Given the description of an element on the screen output the (x, y) to click on. 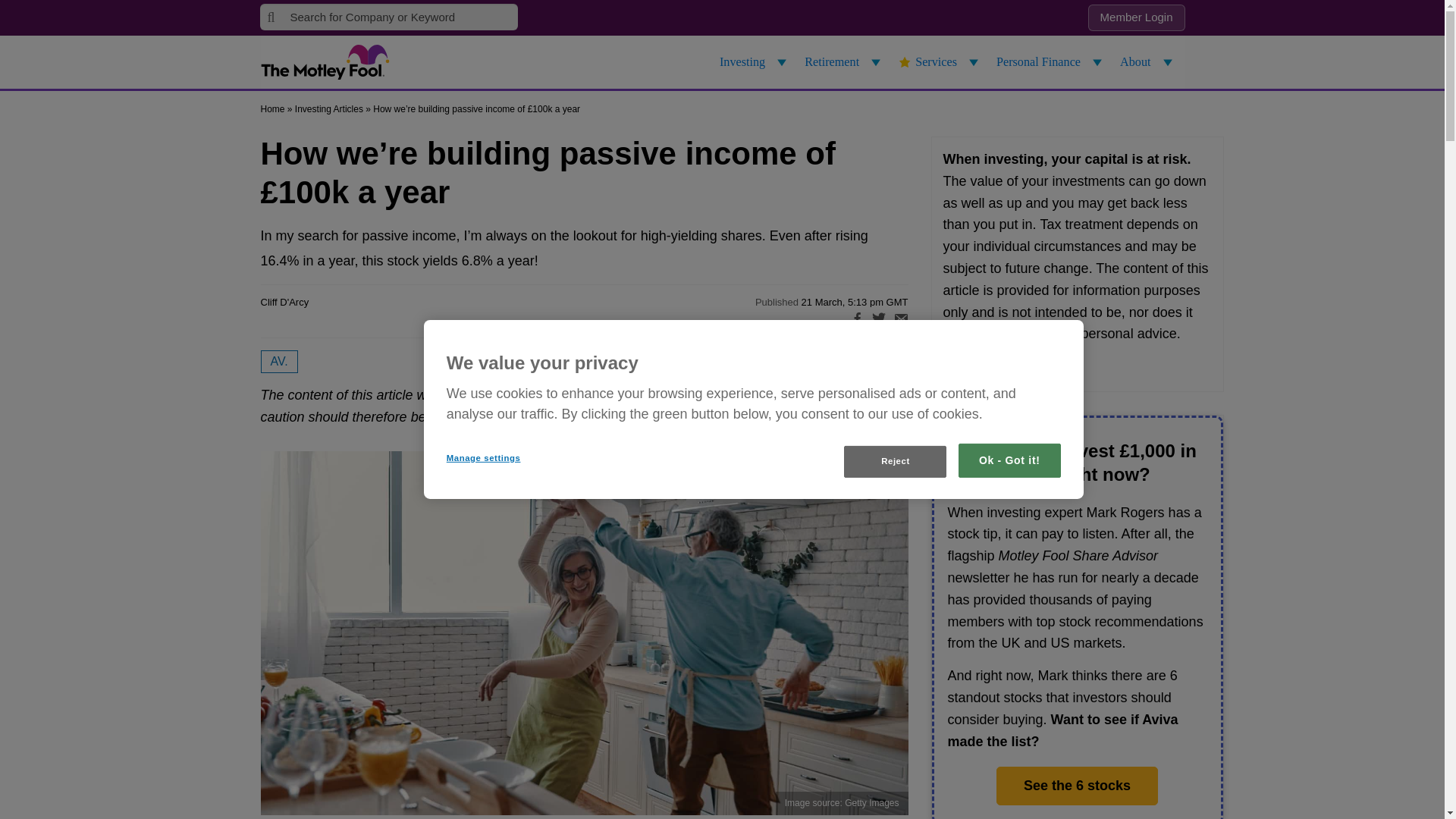
See more articles about AV. (279, 361)
Services (941, 62)
Member Login (1136, 17)
Investing (755, 62)
Retirement (844, 62)
